Given the description of an element on the screen output the (x, y) to click on. 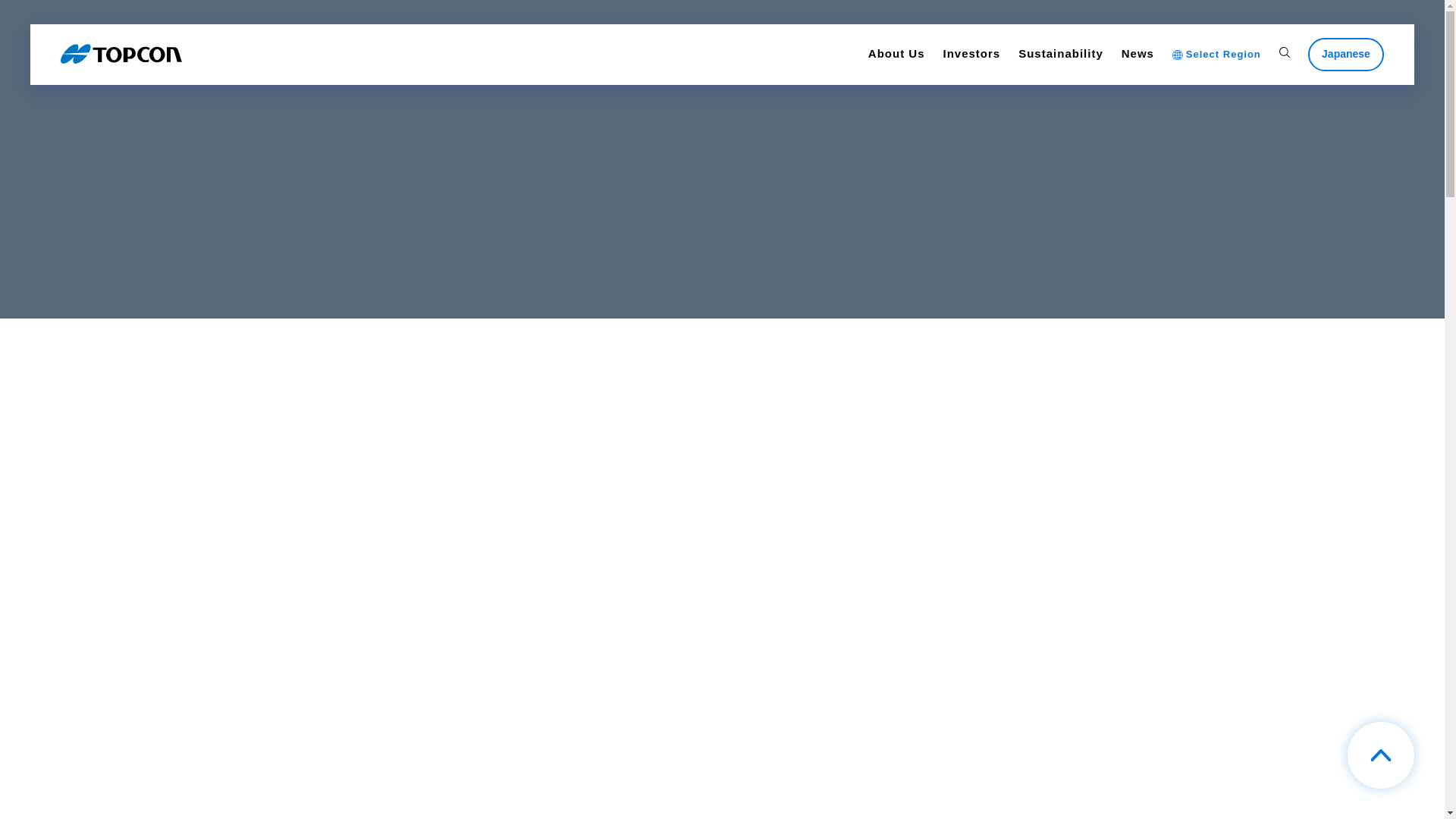
Investors (972, 54)
Investors (972, 54)
Select Region (1216, 54)
TOPCON (121, 54)
Select Region (1216, 54)
About Us (895, 54)
Sustainability (1060, 54)
Japanese (1345, 54)
About Us (895, 54)
Japanese (1345, 54)
Sustainability (1060, 54)
